Given the description of an element on the screen output the (x, y) to click on. 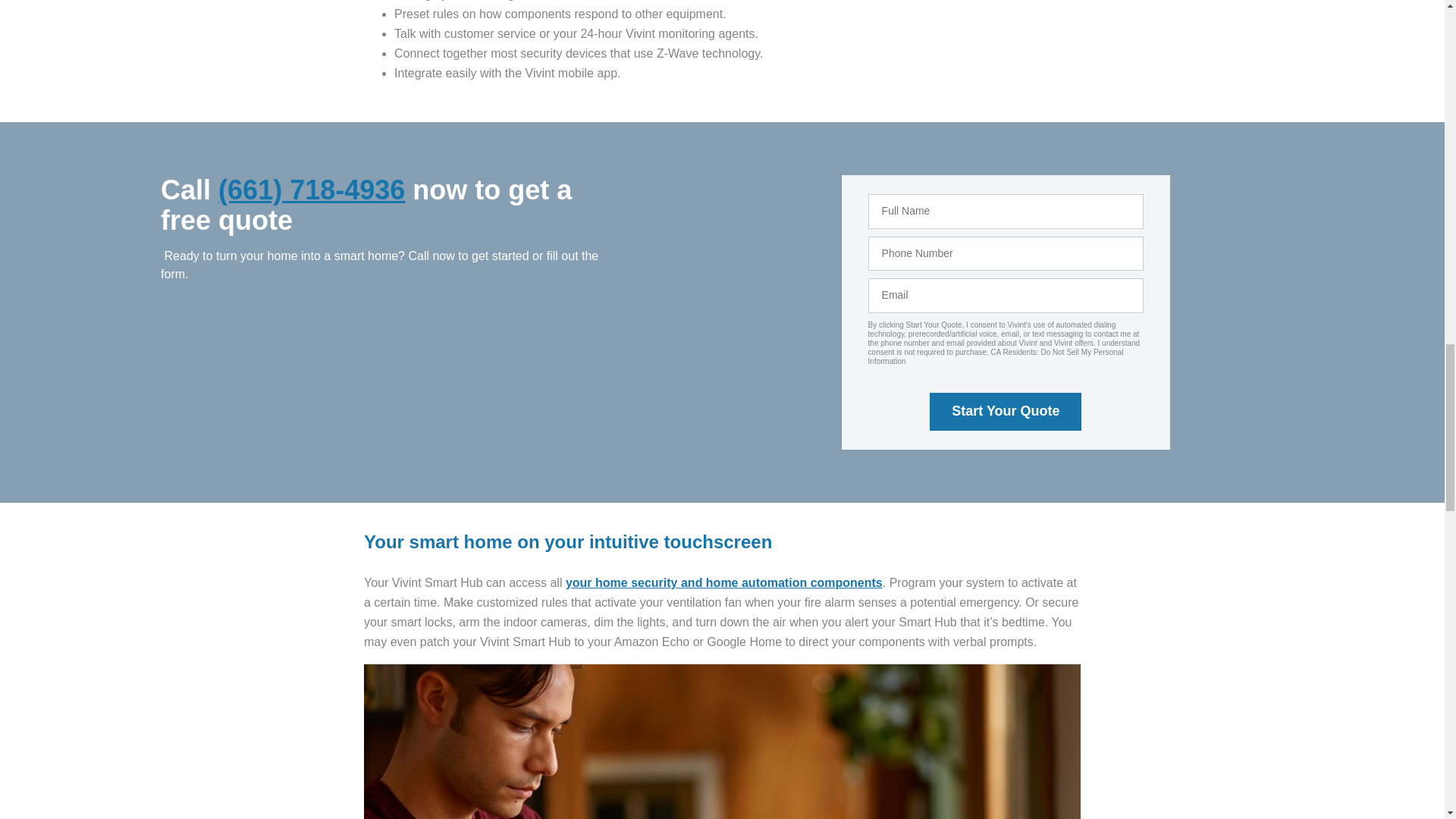
your home security and home automation components (724, 582)
Start Your Quote (1005, 411)
Start Your Quote (1005, 411)
